Given the description of an element on the screen output the (x, y) to click on. 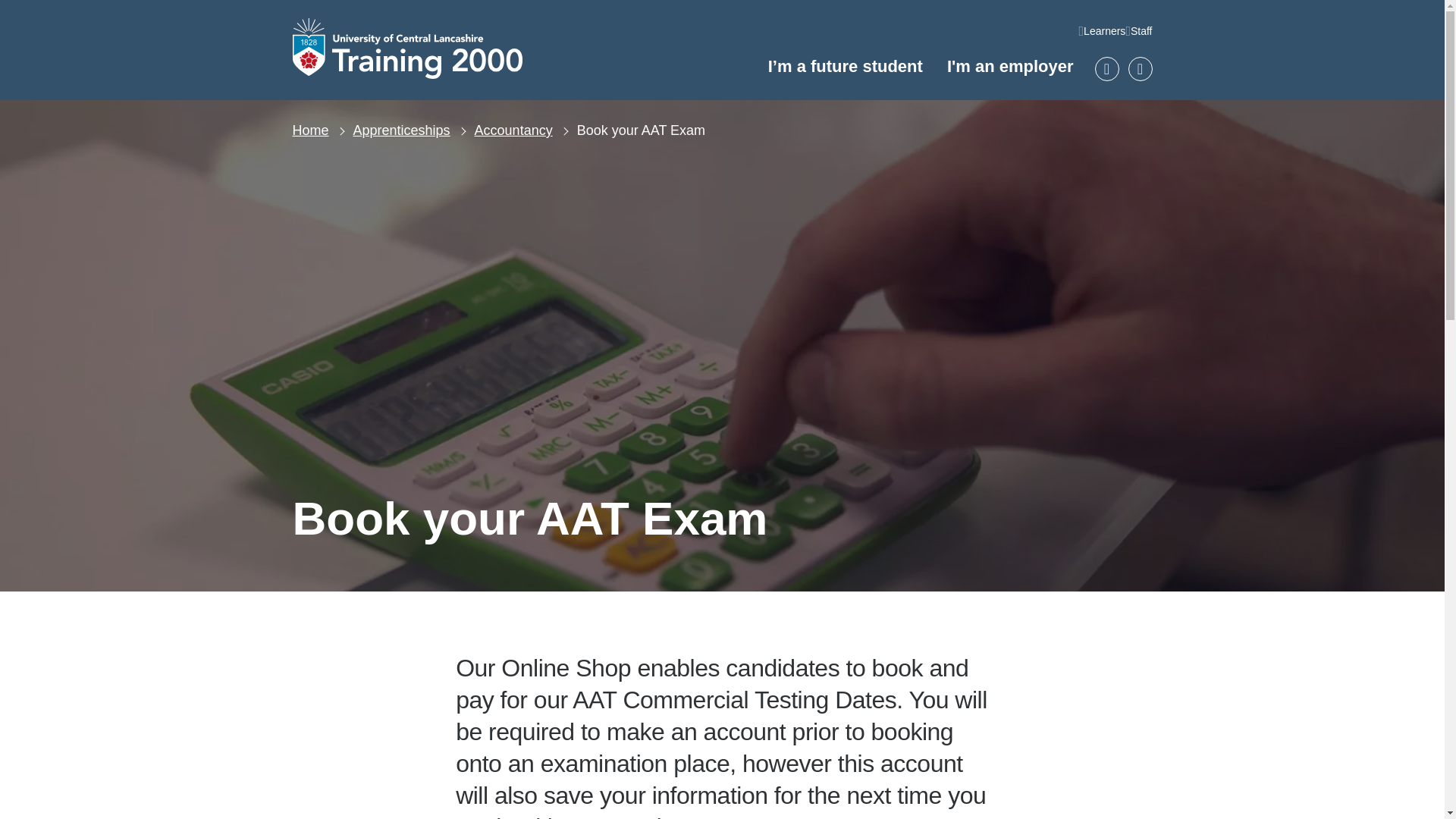
Accountancy (513, 130)
Staff (1142, 30)
Learners (1104, 30)
I'm an employer (1010, 66)
Home (310, 130)
Apprenticeships (401, 130)
